Given the description of an element on the screen output the (x, y) to click on. 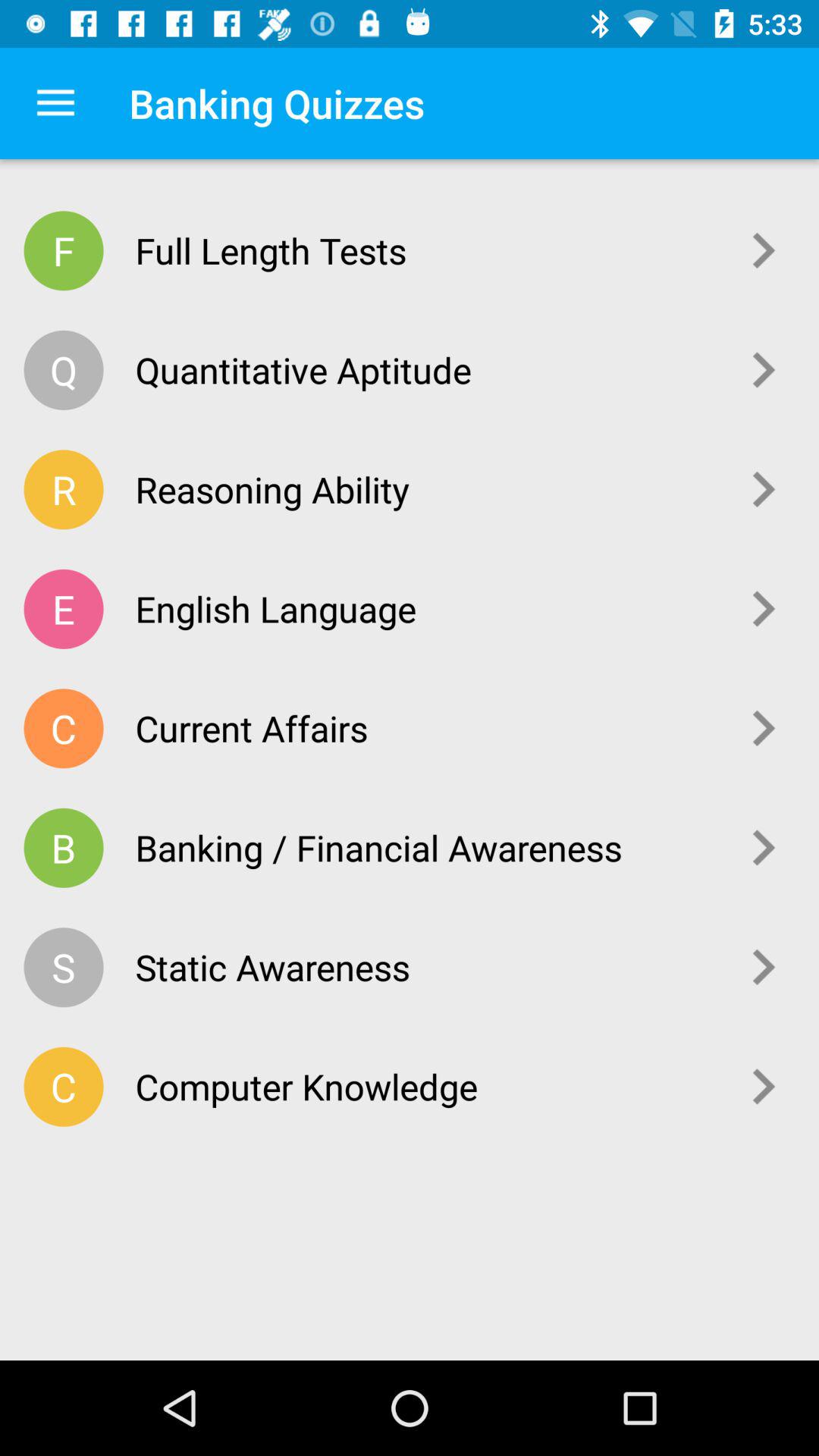
click the item next to  banking quizzes  icon (55, 103)
